Given the description of an element on the screen output the (x, y) to click on. 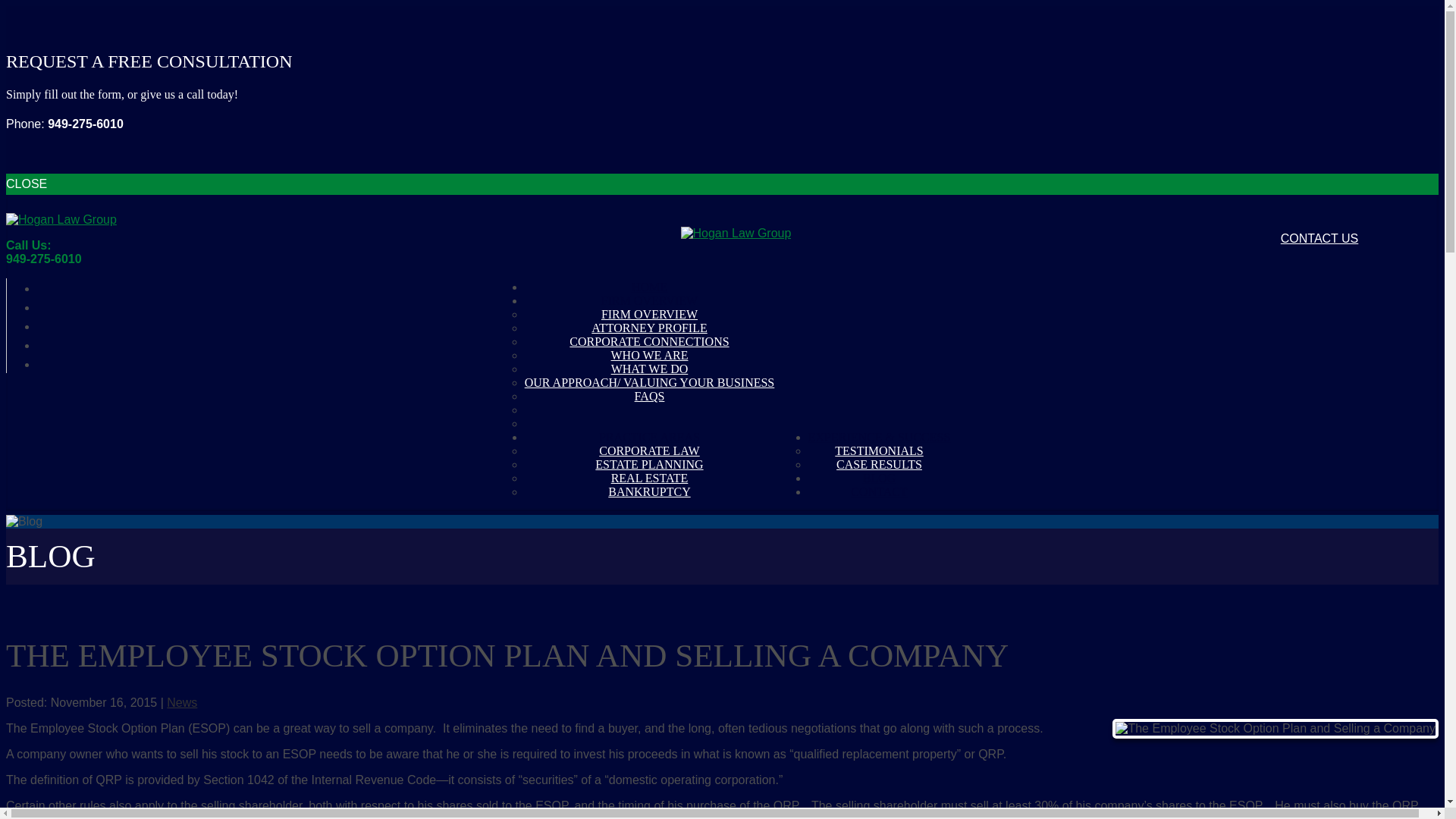
ESTATE PLANNING (649, 463)
CONTACT US (1324, 237)
REAL ESTATE (649, 477)
CORPORATE LAW (649, 450)
CASE RESULTS (878, 463)
News (181, 702)
FIRM OVERVIEW (649, 314)
FAQS (649, 395)
CLOSE (721, 183)
CONTACT (878, 491)
WHO WE ARE (649, 354)
BANKRUPTCY (649, 491)
HOME (648, 286)
FIRM OVERVIEW (649, 300)
BLOG (879, 477)
